Given the description of an element on the screen output the (x, y) to click on. 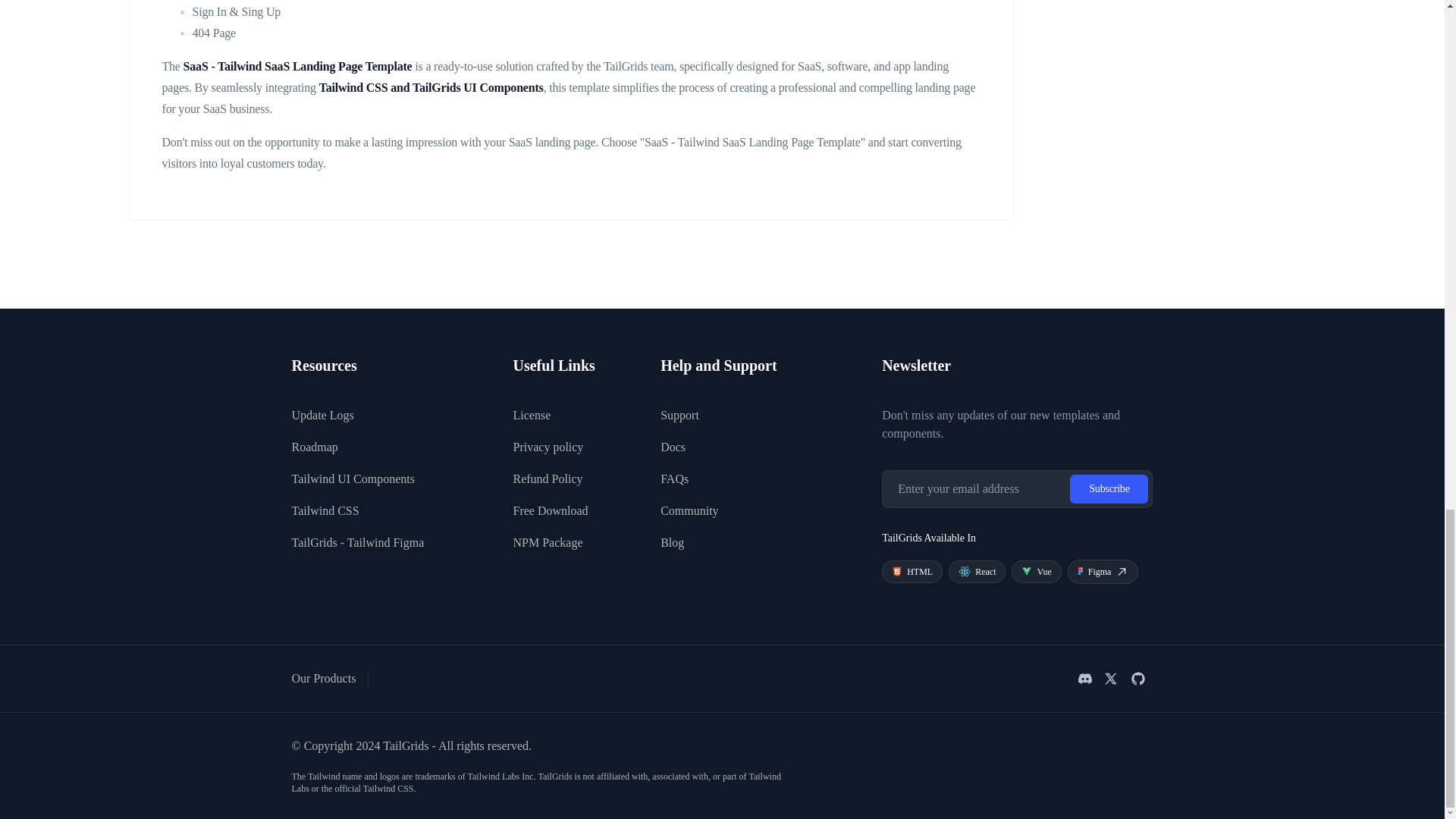
Update Logs (322, 415)
Tailwind UI Components (352, 479)
Roadmap (314, 447)
